Given the description of an element on the screen output the (x, y) to click on. 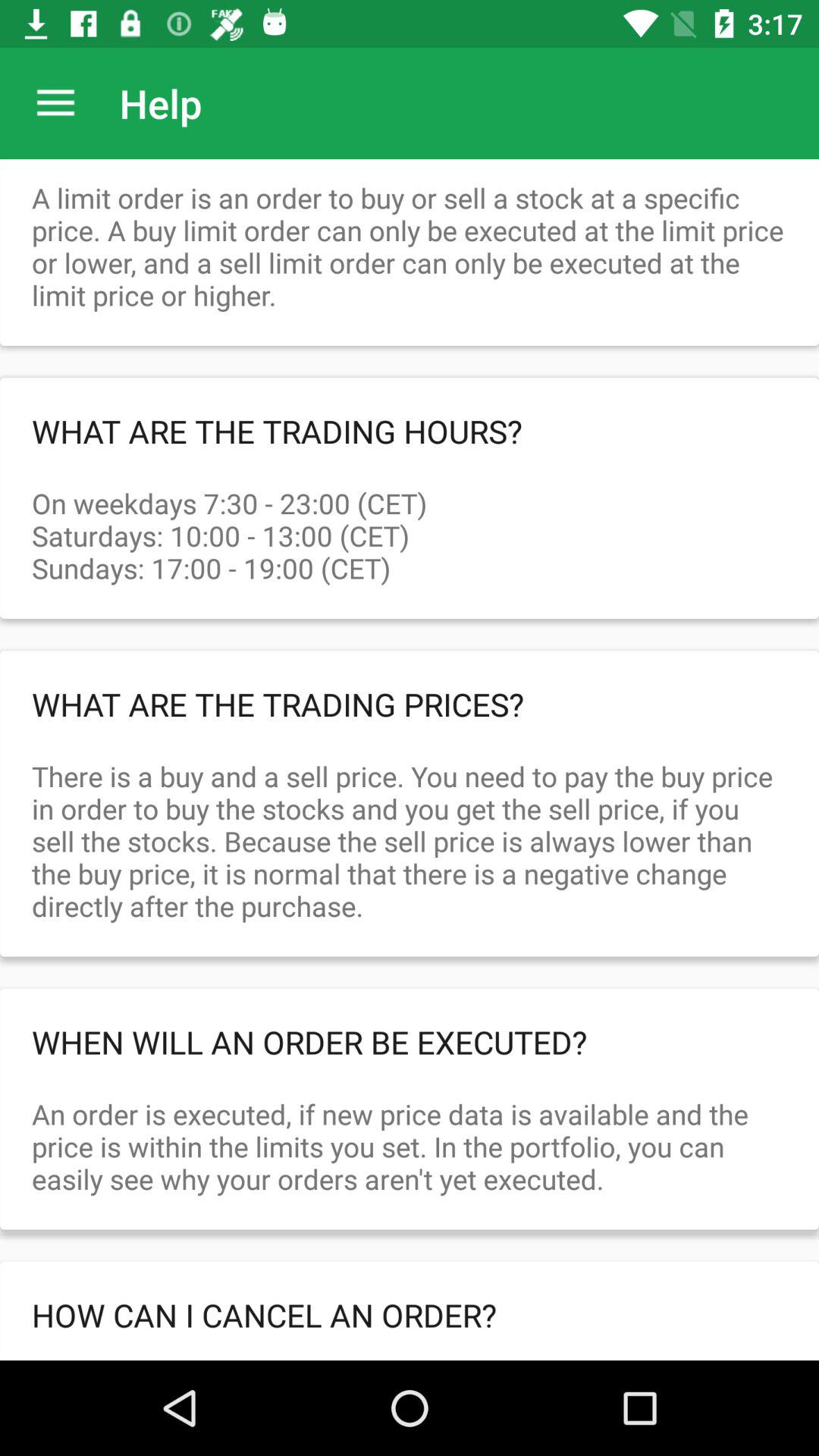
jump until on weekdays 7 icon (409, 519)
